Given the description of an element on the screen output the (x, y) to click on. 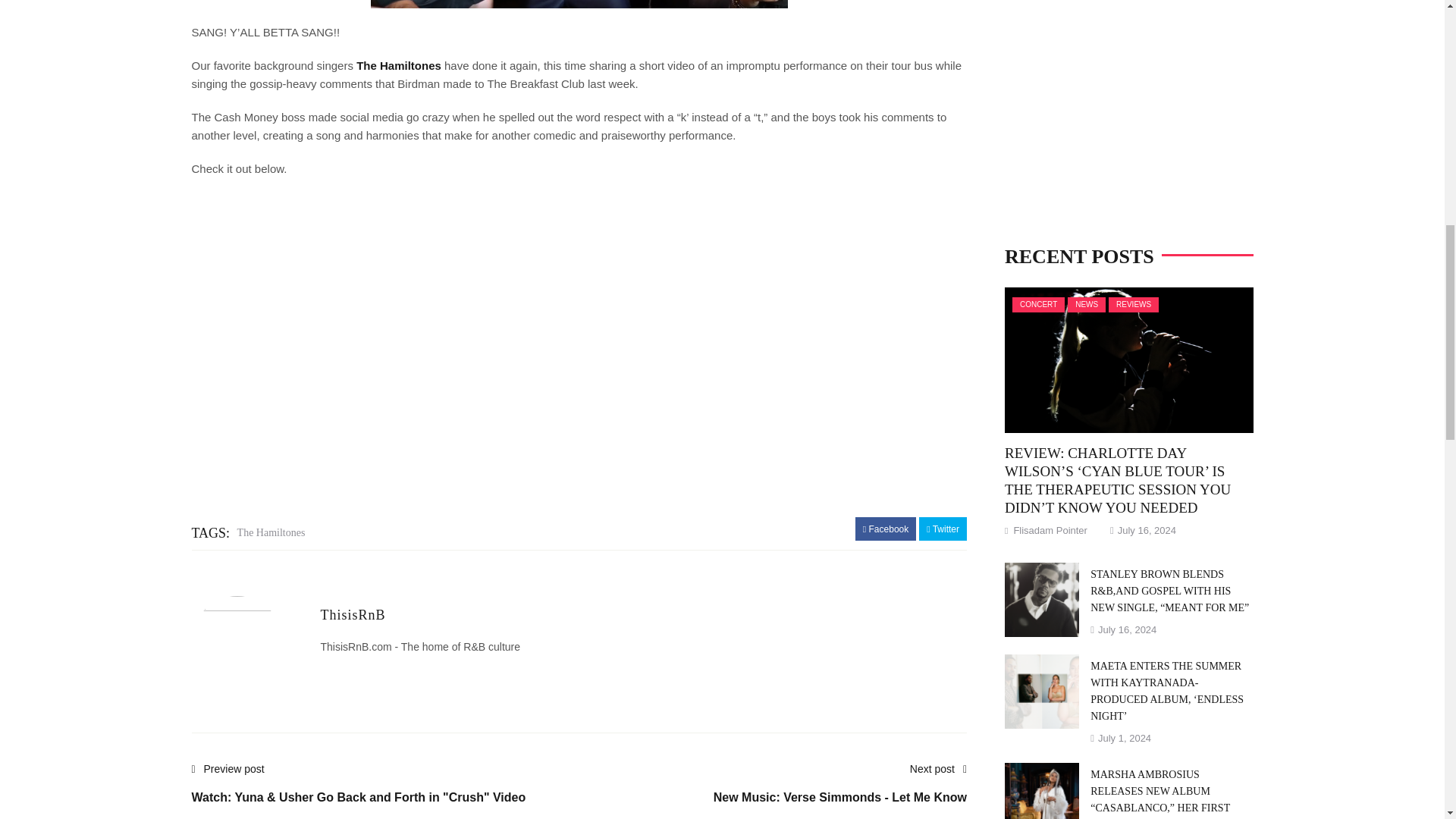
Posts by ThisisRnB (352, 614)
twitter (942, 528)
next post (839, 791)
prev post (357, 791)
facebook (885, 528)
